Given the description of an element on the screen output the (x, y) to click on. 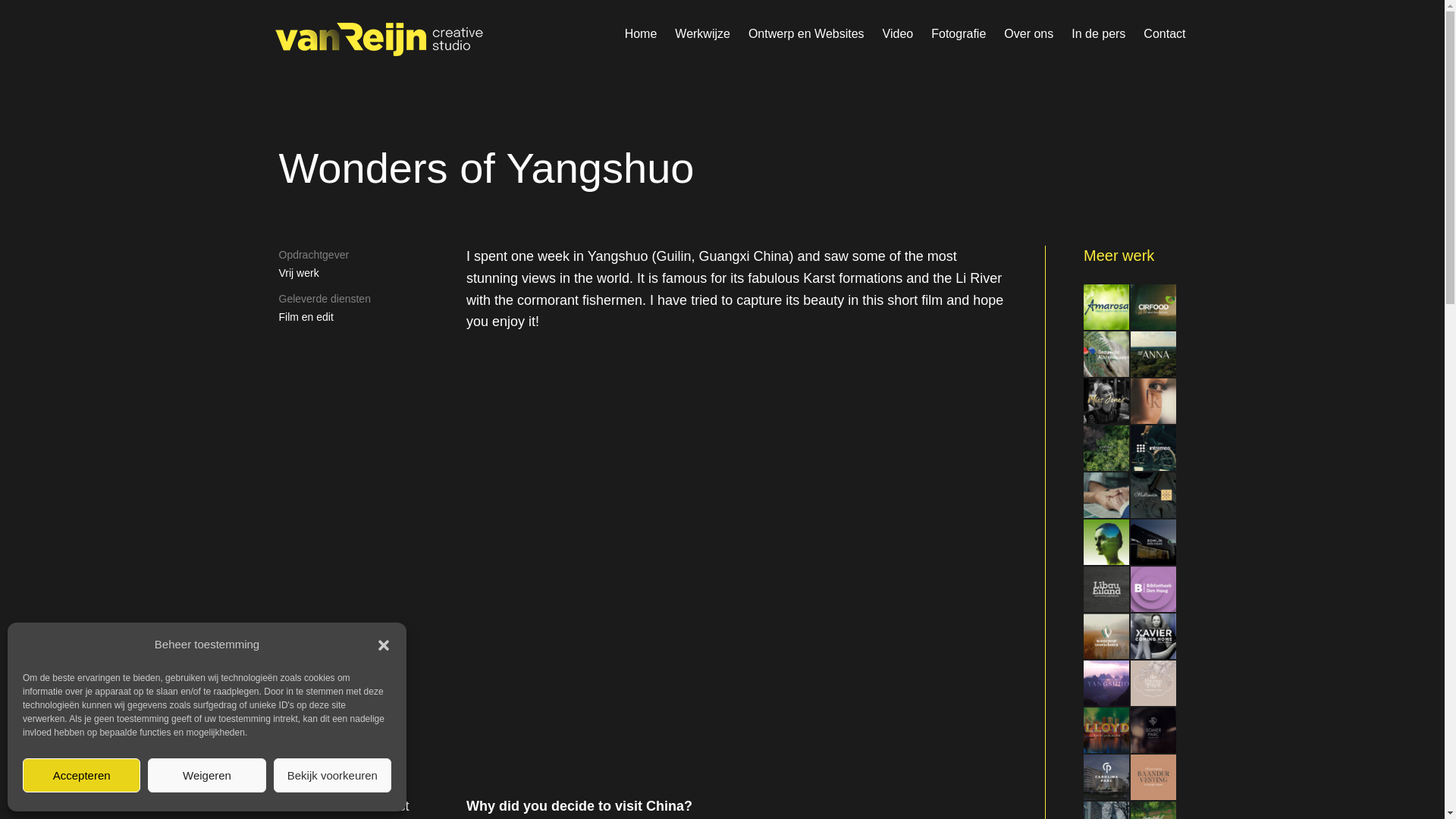
Over ons (1029, 34)
Wassenaar Arbeidscommunicatie (1106, 542)
Weigeren (206, 775)
People behind the watch (1152, 495)
Topkeukens (1152, 401)
Amarosa (1106, 307)
Home (641, 34)
Fotografie (958, 34)
Werkwijze (702, 34)
Romijn Land Rover Jaguar (1152, 542)
Ontwerp en Websites (806, 34)
BabZ thuiszorg (1106, 495)
Bekijk voorkeuren (332, 775)
Miss Jones (1106, 401)
